Given the description of an element on the screen output the (x, y) to click on. 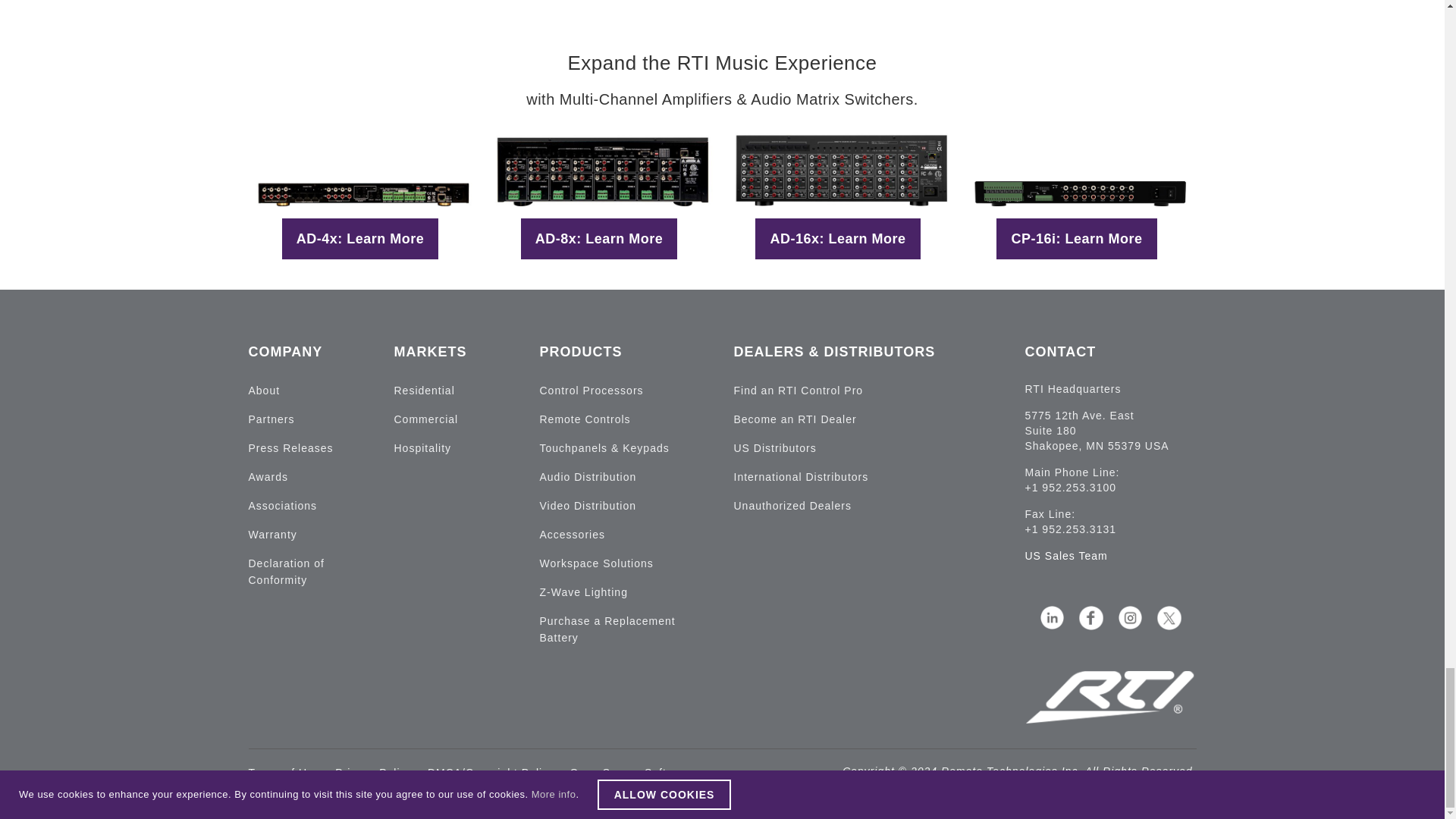
AD-8x: Learn More (599, 238)
AD-4x: Learn More (360, 238)
